Given the description of an element on the screen output the (x, y) to click on. 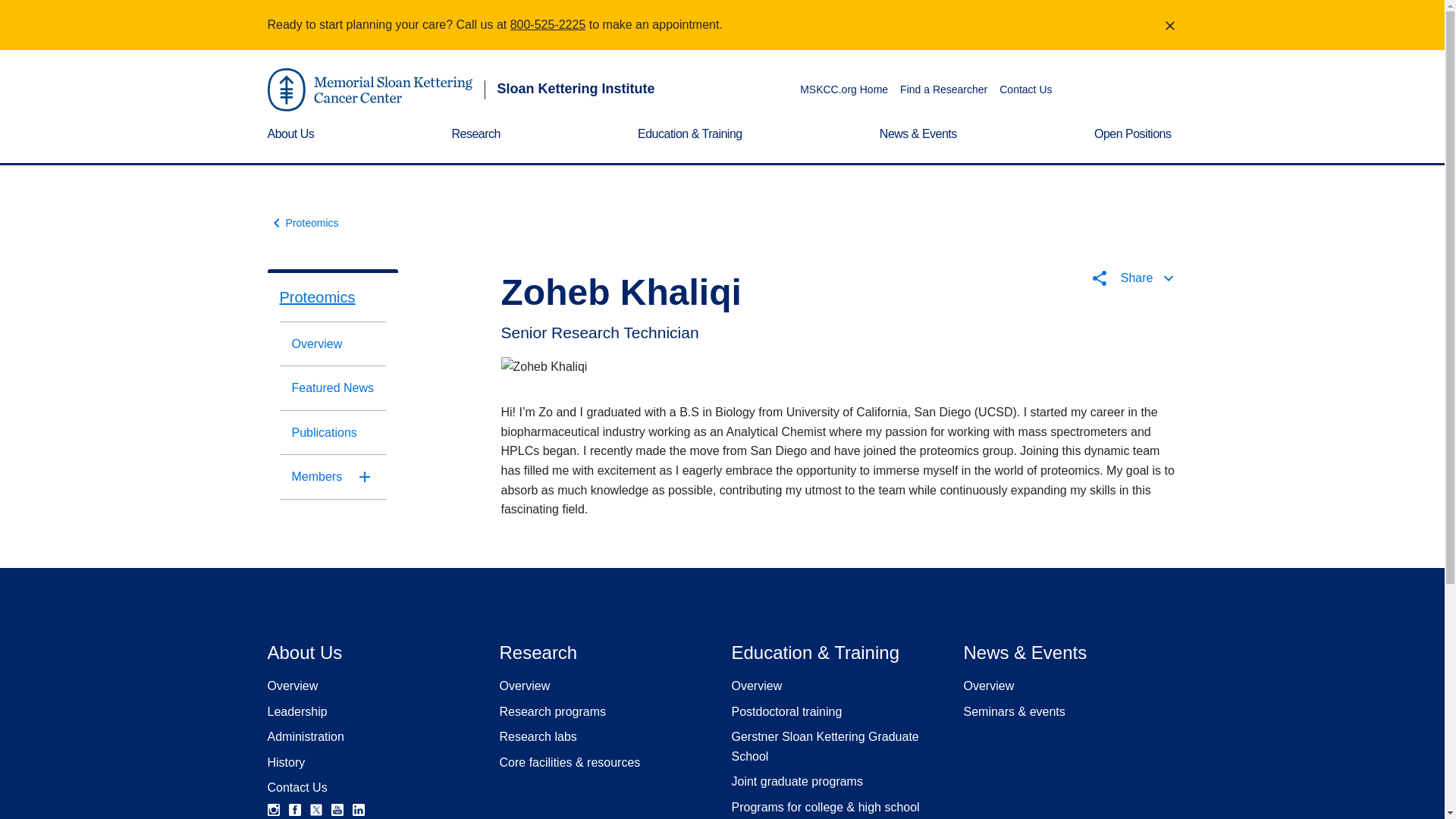
Proteomics (301, 222)
Proteomics (332, 296)
Contact Us (296, 787)
800-525-2225 (548, 24)
Leadership (296, 711)
Instagram (272, 809)
Overview (291, 685)
Open Positions (1135, 143)
About Us (293, 143)
